Given the description of an element on the screen output the (x, y) to click on. 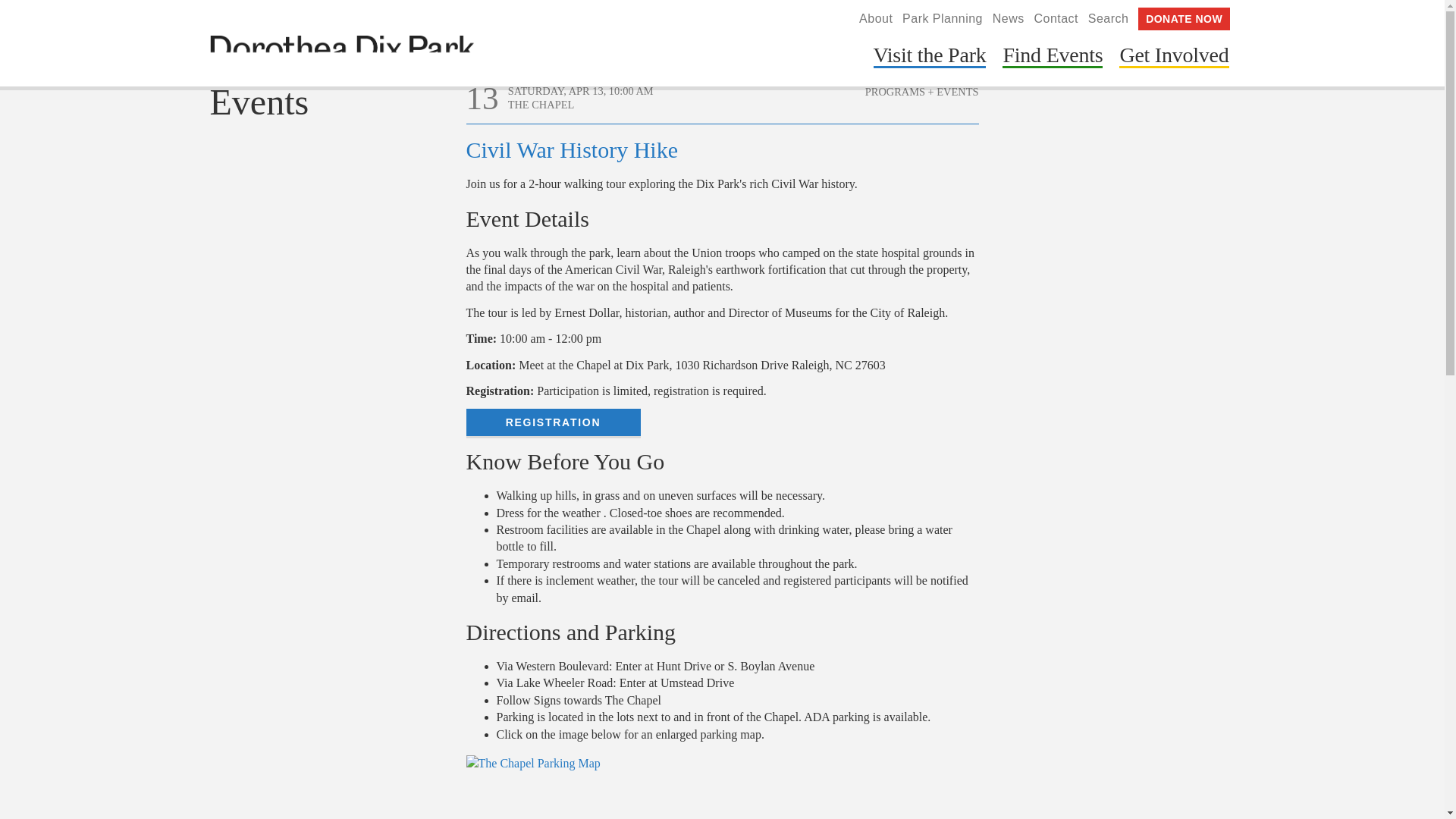
Park Planning (942, 18)
Home (341, 55)
Visit the Park (930, 58)
About (875, 18)
Search (1108, 18)
DONATE NOW (1184, 18)
Civil War History Hike (571, 149)
News (1008, 18)
Contact (1055, 18)
